Given the description of an element on the screen output the (x, y) to click on. 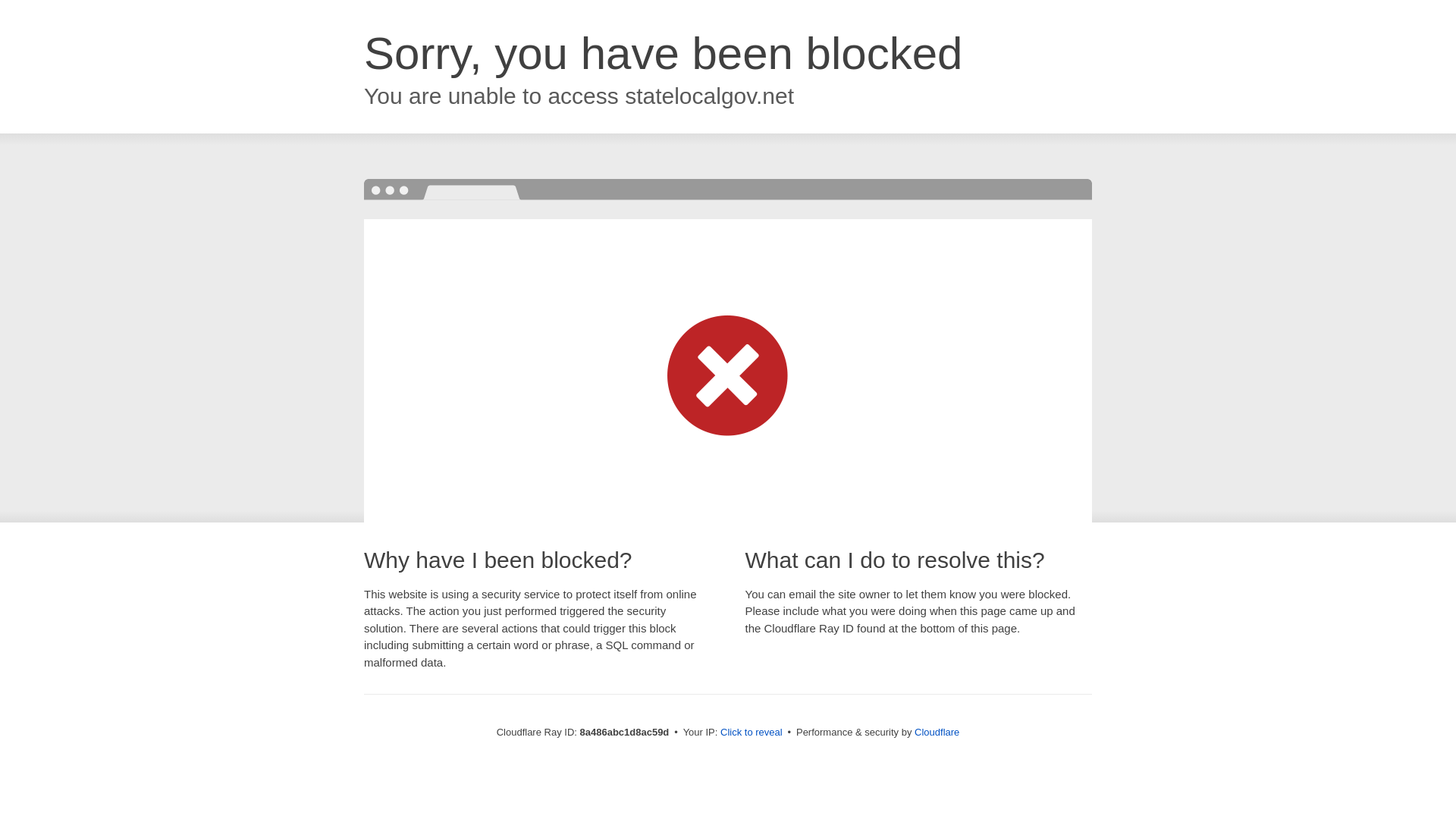
Click to reveal (751, 732)
Cloudflare (936, 731)
